Given the description of an element on the screen output the (x, y) to click on. 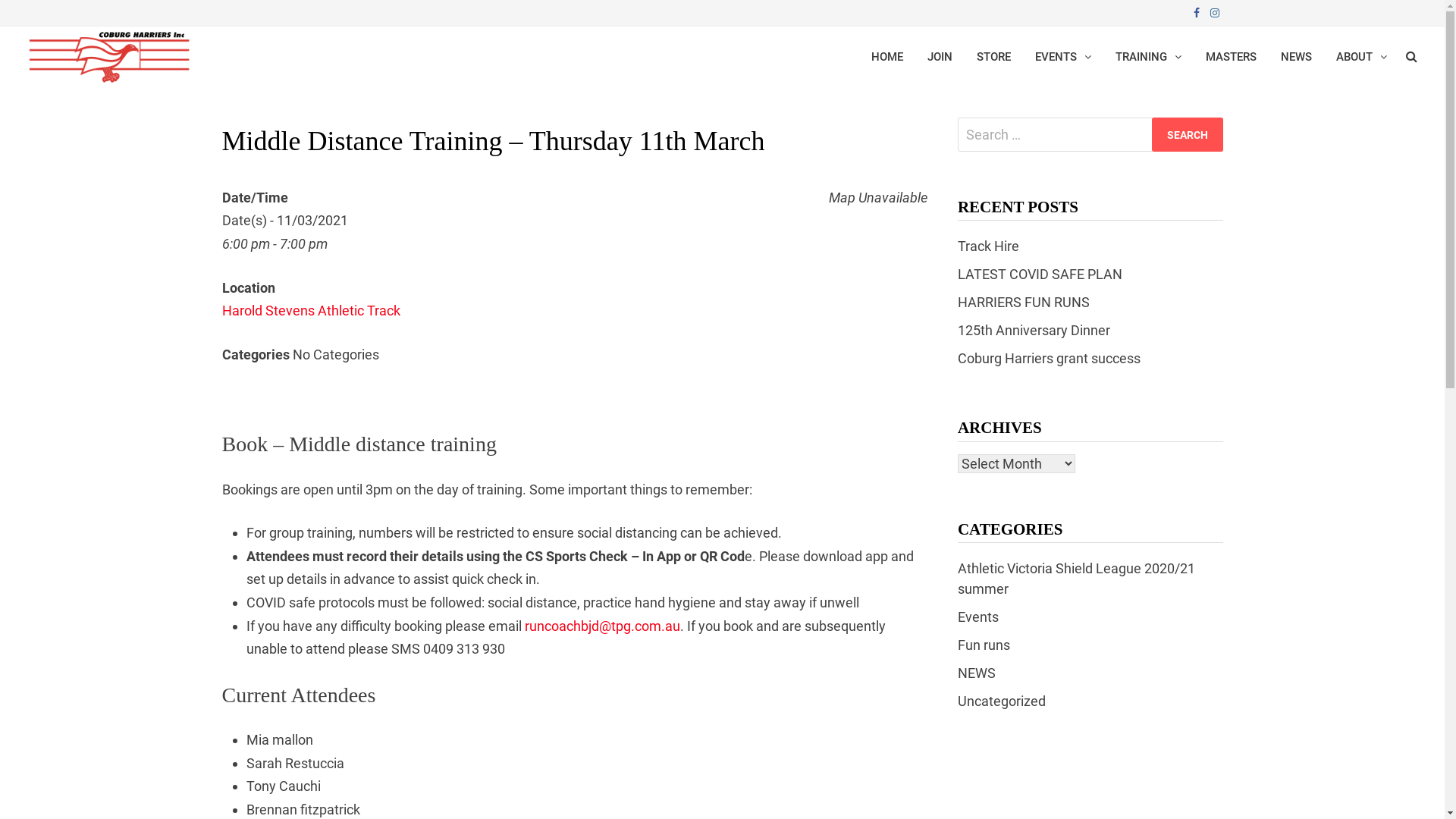
NEWS Element type: text (1296, 56)
Events Element type: text (977, 616)
Coburg Harriers grant success Element type: text (1048, 358)
Search Element type: text (1186, 134)
NEWS Element type: text (976, 672)
EVENTS Element type: text (1062, 56)
Uncategorized Element type: text (1001, 701)
runcoachbjd@tpg.com.au Element type: text (602, 625)
Fun runs Element type: text (983, 644)
MASTERS Element type: text (1230, 56)
TRAINING Element type: text (1148, 56)
Harold Stevens Athletic Track Element type: text (310, 310)
JOIN Element type: text (939, 56)
Facebook Element type: hover (1197, 11)
Track Hire Element type: text (988, 246)
HOME Element type: text (887, 56)
ABOUT Element type: text (1361, 56)
STORE Element type: text (993, 56)
Instagram Element type: hover (1213, 11)
Athletic Victoria Shield League 2020/21 summer Element type: text (1076, 578)
125th Anniversary Dinner Element type: text (1033, 330)
HARRIERS FUN RUNS Element type: text (1023, 302)
LATEST COVID SAFE PLAN Element type: text (1039, 274)
